Given the description of an element on the screen output the (x, y) to click on. 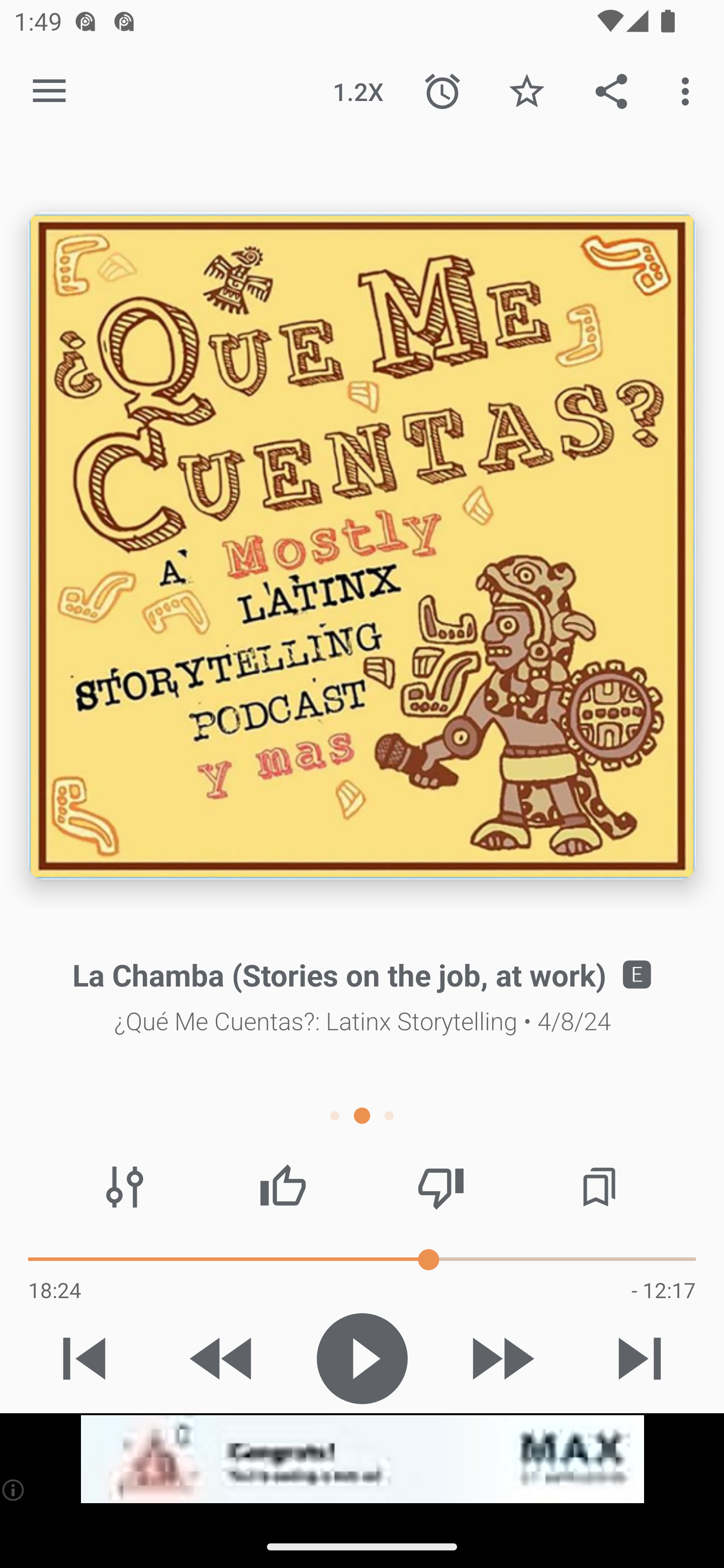
Open navigation sidebar (49, 91)
1.2X (357, 90)
Sleep Timer (442, 90)
Favorite (526, 90)
Share (611, 90)
More options (688, 90)
Episode description (361, 545)
Audio effects (124, 1186)
Thumbs up (283, 1186)
Thumbs down (440, 1186)
Chapters / Bookmarks (598, 1186)
- 12:17 (663, 1289)
Previous track (84, 1358)
Skip 15s backward (222, 1358)
Play / Pause (362, 1358)
Skip 30s forward (500, 1358)
Next track (639, 1358)
app-monetization (362, 1459)
(i) (14, 1489)
